Given the description of an element on the screen output the (x, y) to click on. 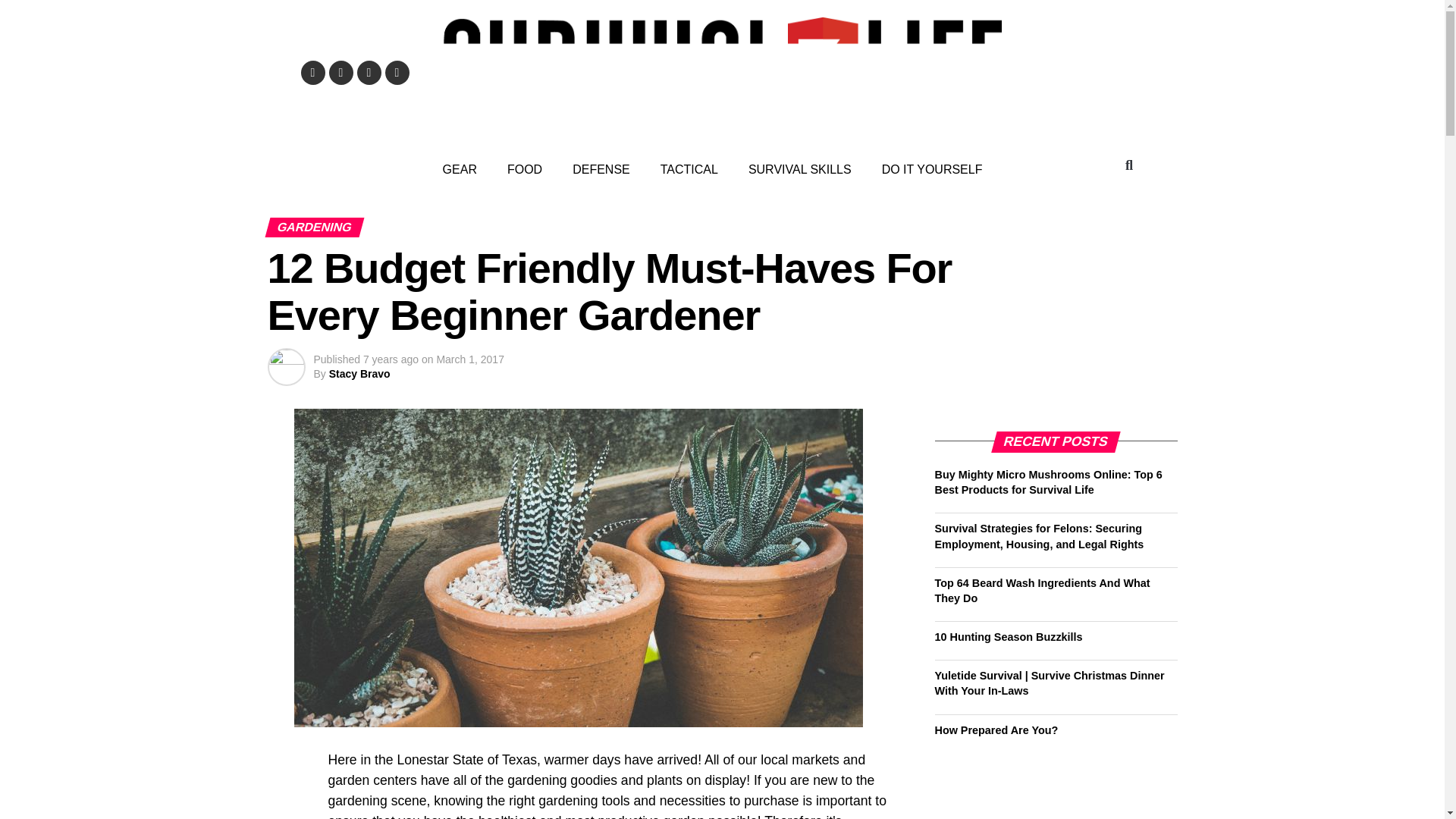
DO IT YOURSELF (931, 169)
TACTICAL (689, 169)
DEFENSE (601, 169)
Posts by Stacy Bravo (359, 373)
SURVIVAL SKILLS (799, 169)
Stacy Bravo (359, 373)
FOOD (524, 169)
GEAR (460, 169)
